Given the description of an element on the screen output the (x, y) to click on. 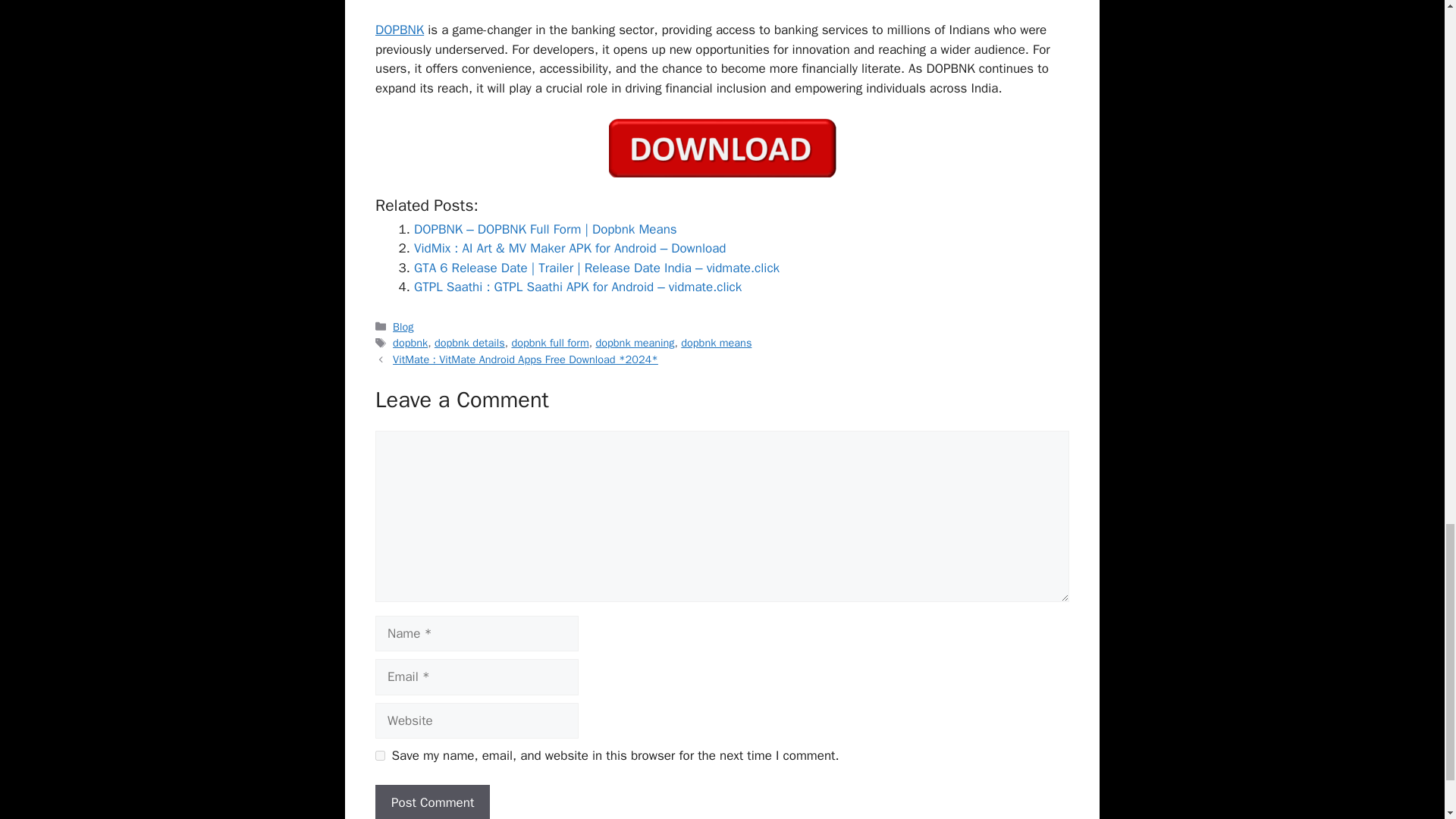
dopbnk means (716, 342)
DOPBNK (399, 29)
Post Comment (432, 801)
dopbnk details (469, 342)
yes (380, 755)
dopbnk full form (549, 342)
Blog (403, 326)
Post Comment (432, 801)
dopbnk meaning (634, 342)
dopbnk (410, 342)
